Given the description of an element on the screen output the (x, y) to click on. 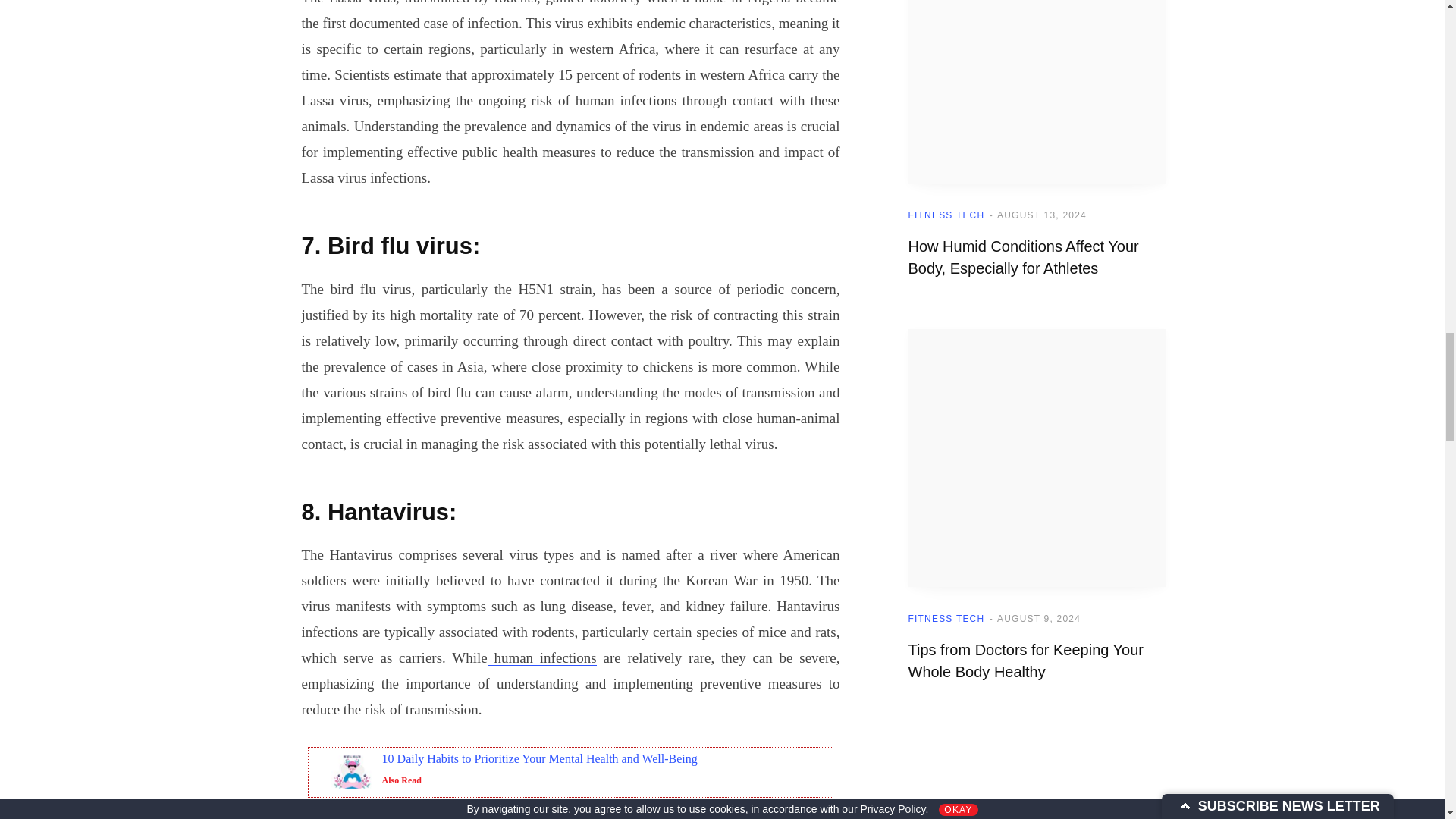
human infections (541, 657)
Also Read (401, 779)
